Given the description of an element on the screen output the (x, y) to click on. 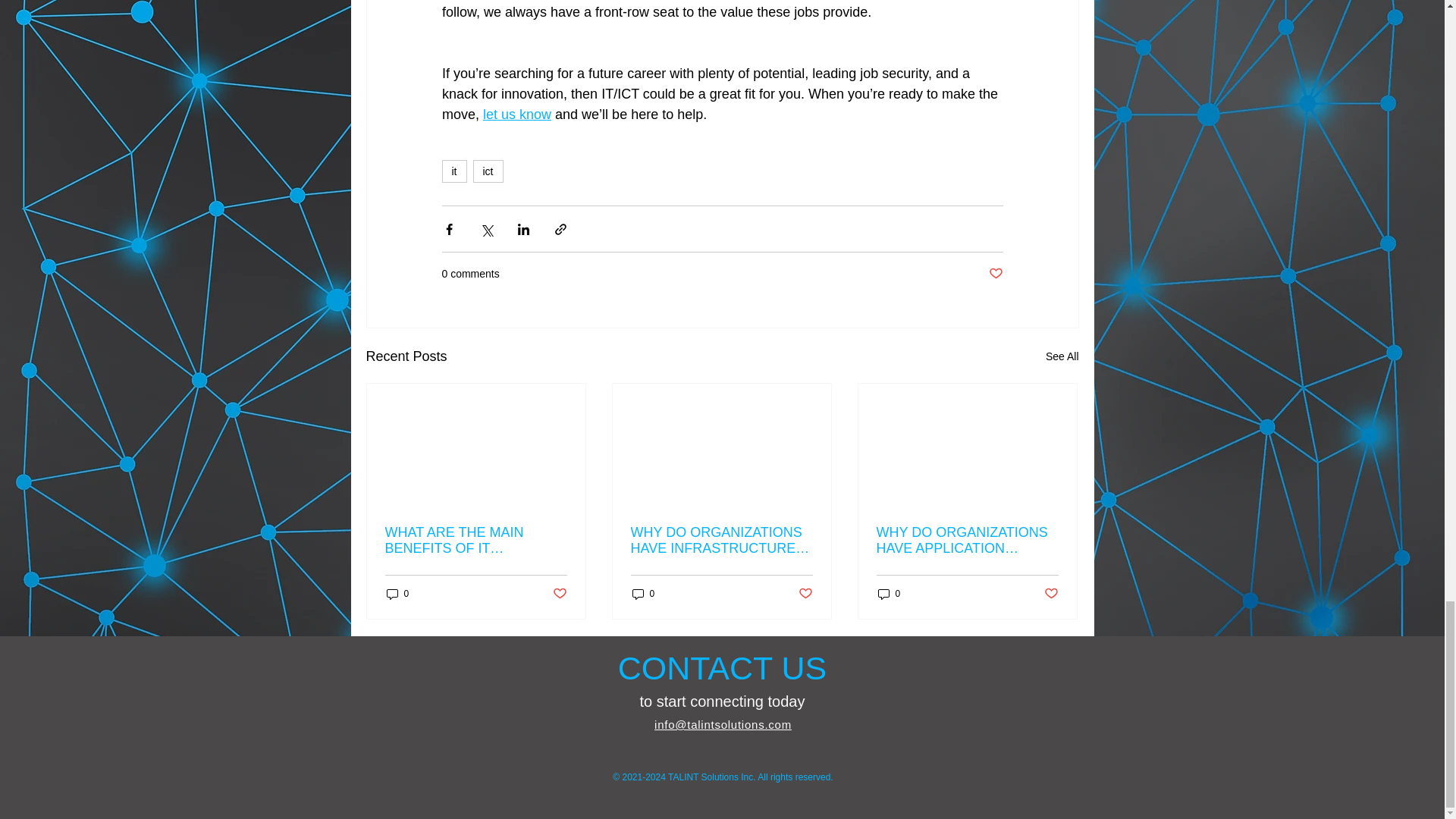
let us know (517, 114)
0 (889, 594)
0 (643, 594)
0 (397, 594)
WHAT ARE THE MAIN BENEFITS OF IT OUTSOURCING? (476, 540)
Post not marked as liked (804, 593)
WHY DO ORGANIZATIONS HAVE APPLICATION ARCHITECTS? (967, 540)
Post not marked as liked (995, 273)
See All (1061, 356)
Post not marked as liked (1050, 593)
it (453, 170)
WHY DO ORGANIZATIONS HAVE INFRASTRUCTURE ARCHITECTS? (721, 540)
Post not marked as liked (558, 593)
ict (488, 170)
